Given the description of an element on the screen output the (x, y) to click on. 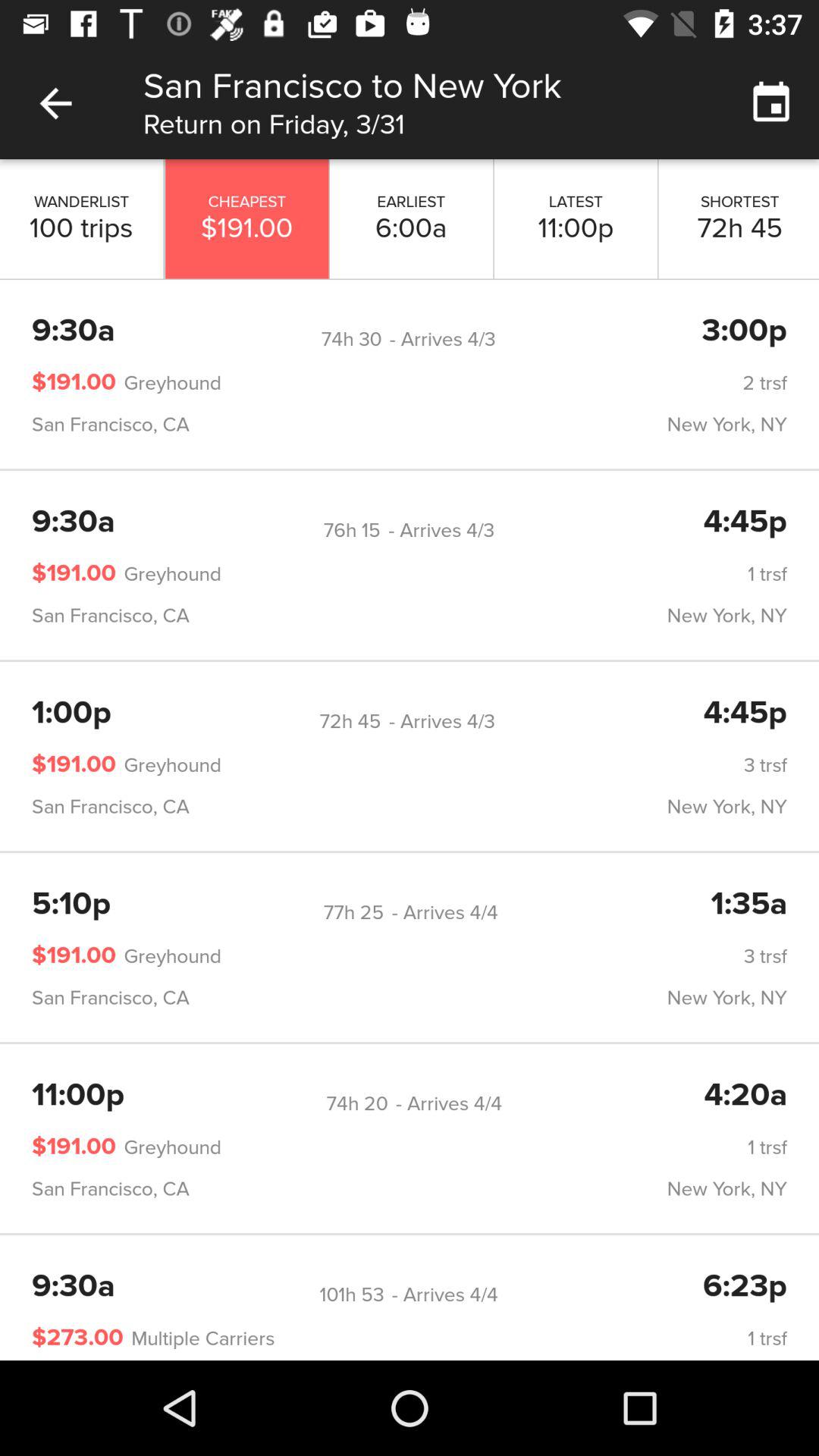
open the icon to the left of the - arrives 4/4 item (353, 912)
